Given the description of an element on the screen output the (x, y) to click on. 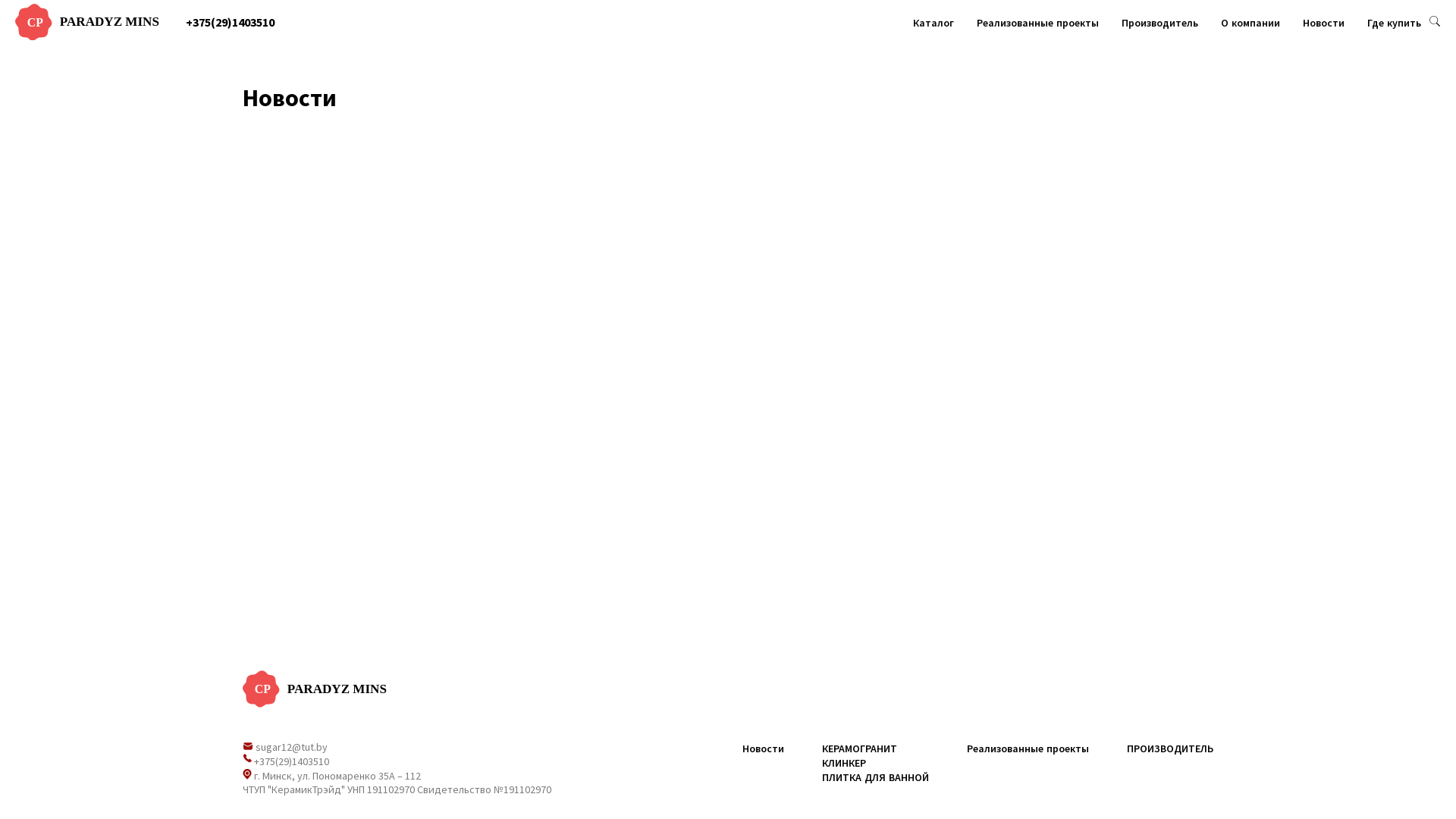
+375(29)1403510 Element type: text (291, 761)
sugar12@tut.by Element type: text (291, 746)
+375(29)1403510 Element type: text (229, 21)
